Given the description of an element on the screen output the (x, y) to click on. 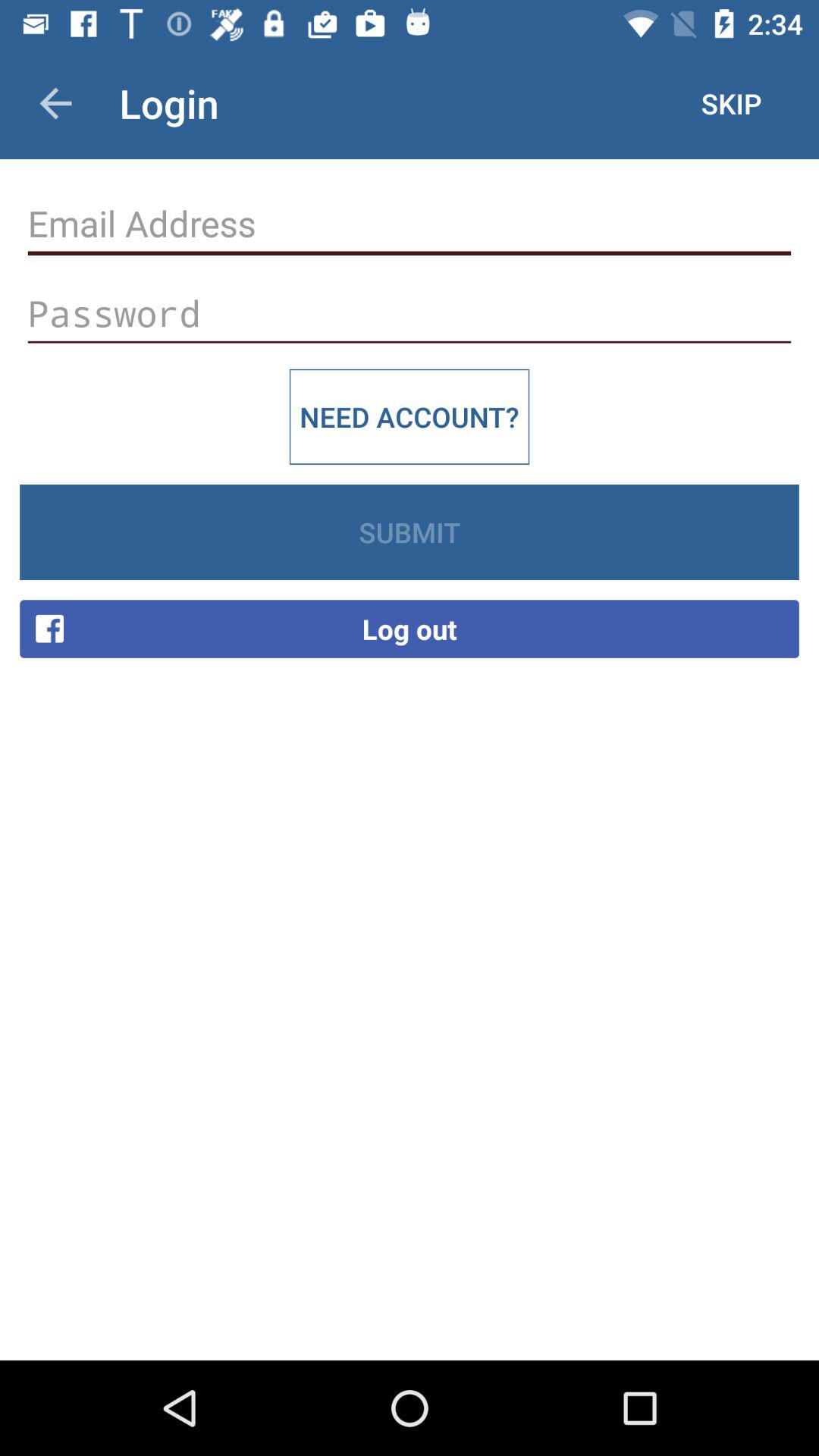
select item below submit icon (409, 629)
